Given the description of an element on the screen output the (x, y) to click on. 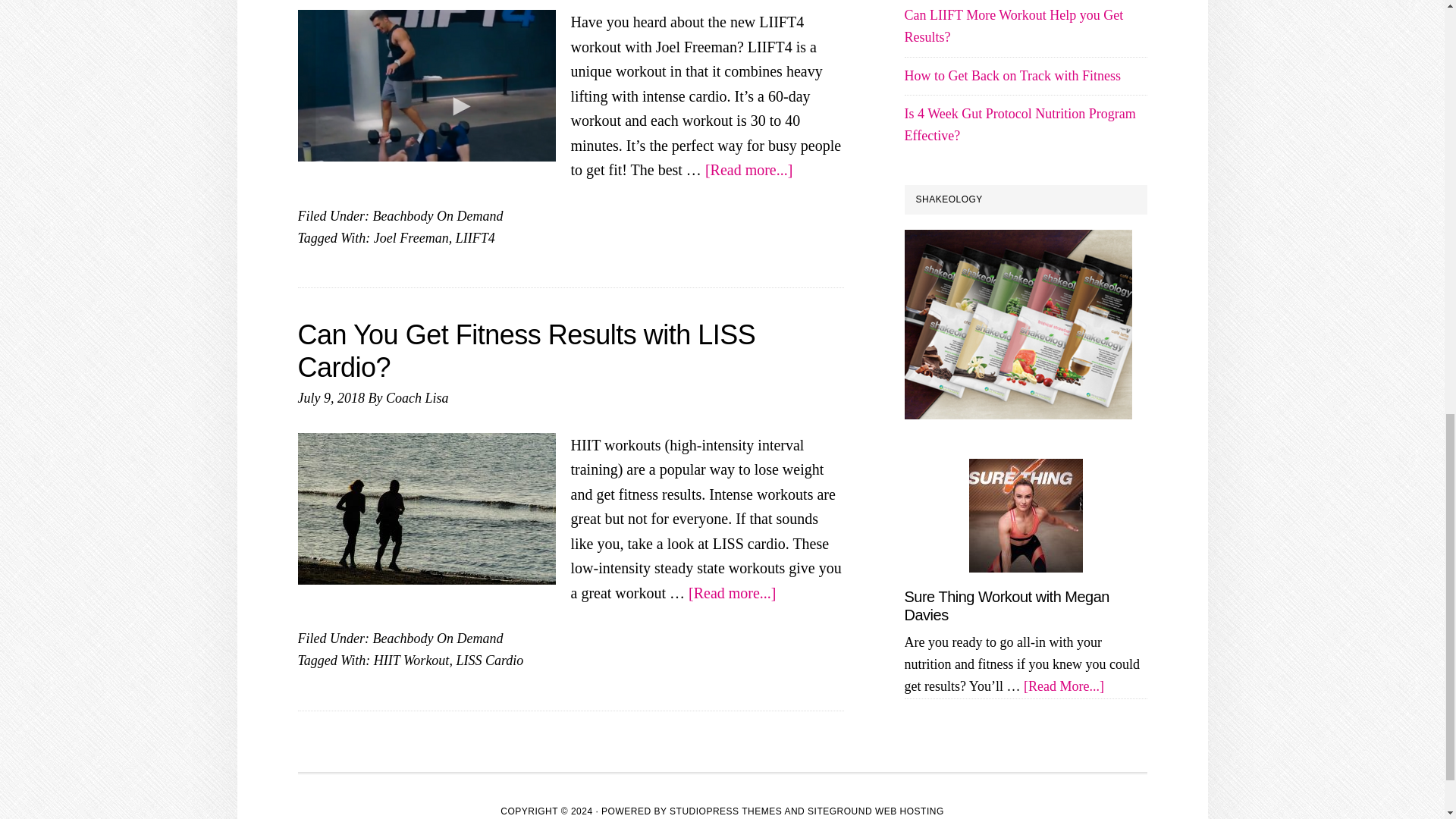
How to Get Back on Track with Fitness (1012, 75)
HIIT Workout (411, 660)
LIIFT4 (475, 237)
Beachbody On Demand (437, 638)
Is 4 Week Gut Protocol Nutrition Program Effective? (1019, 124)
Joel Freeman (411, 237)
Beachbody On Demand (437, 215)
Coach Lisa (416, 397)
Can LIIFT More Workout Help you Get Results? (1013, 26)
LISS Cardio (488, 660)
Can You Get Fitness Results with LISS Cardio? (526, 351)
